Given the description of an element on the screen output the (x, y) to click on. 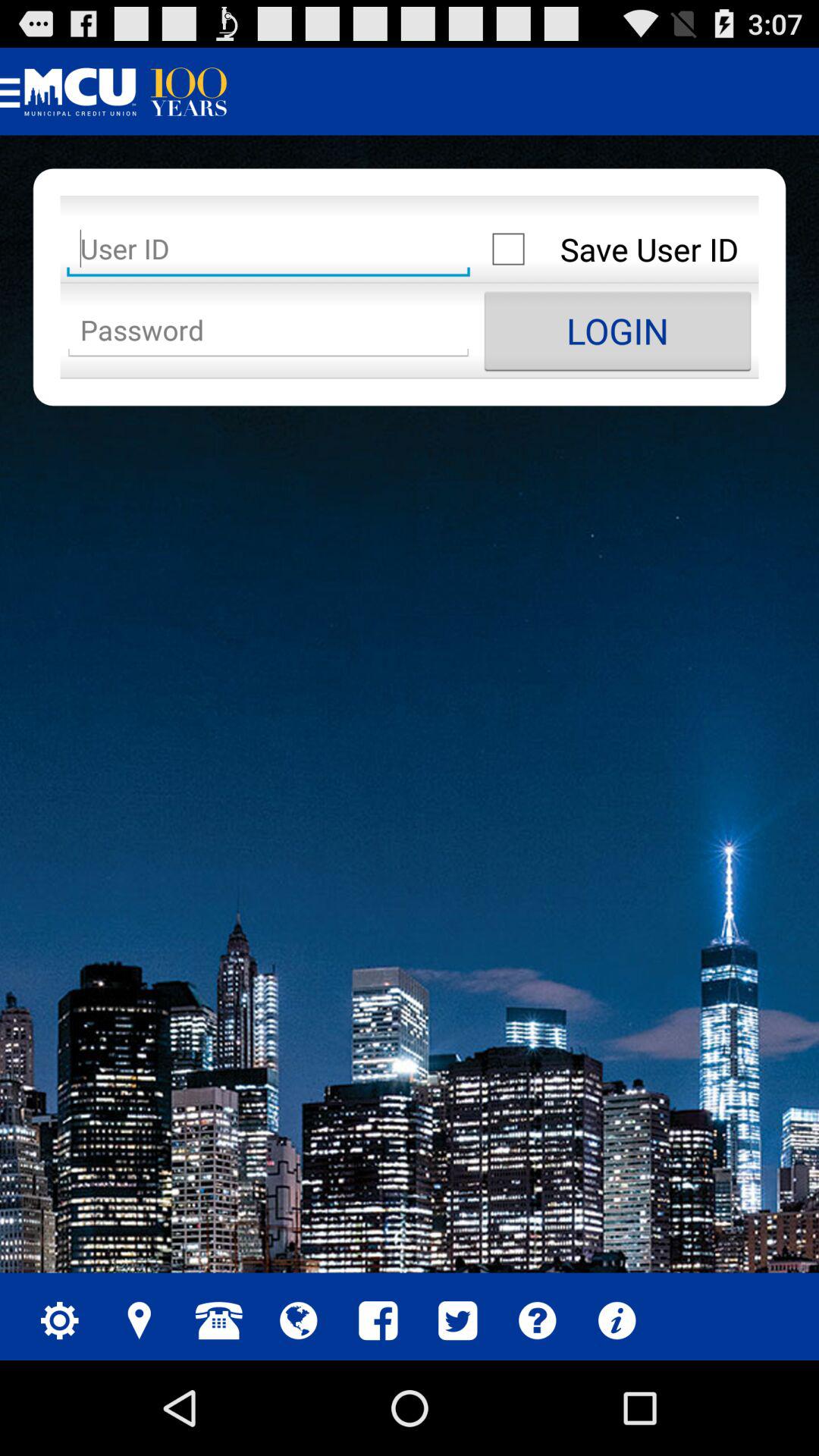
turn off login item (617, 330)
